Given the description of an element on the screen output the (x, y) to click on. 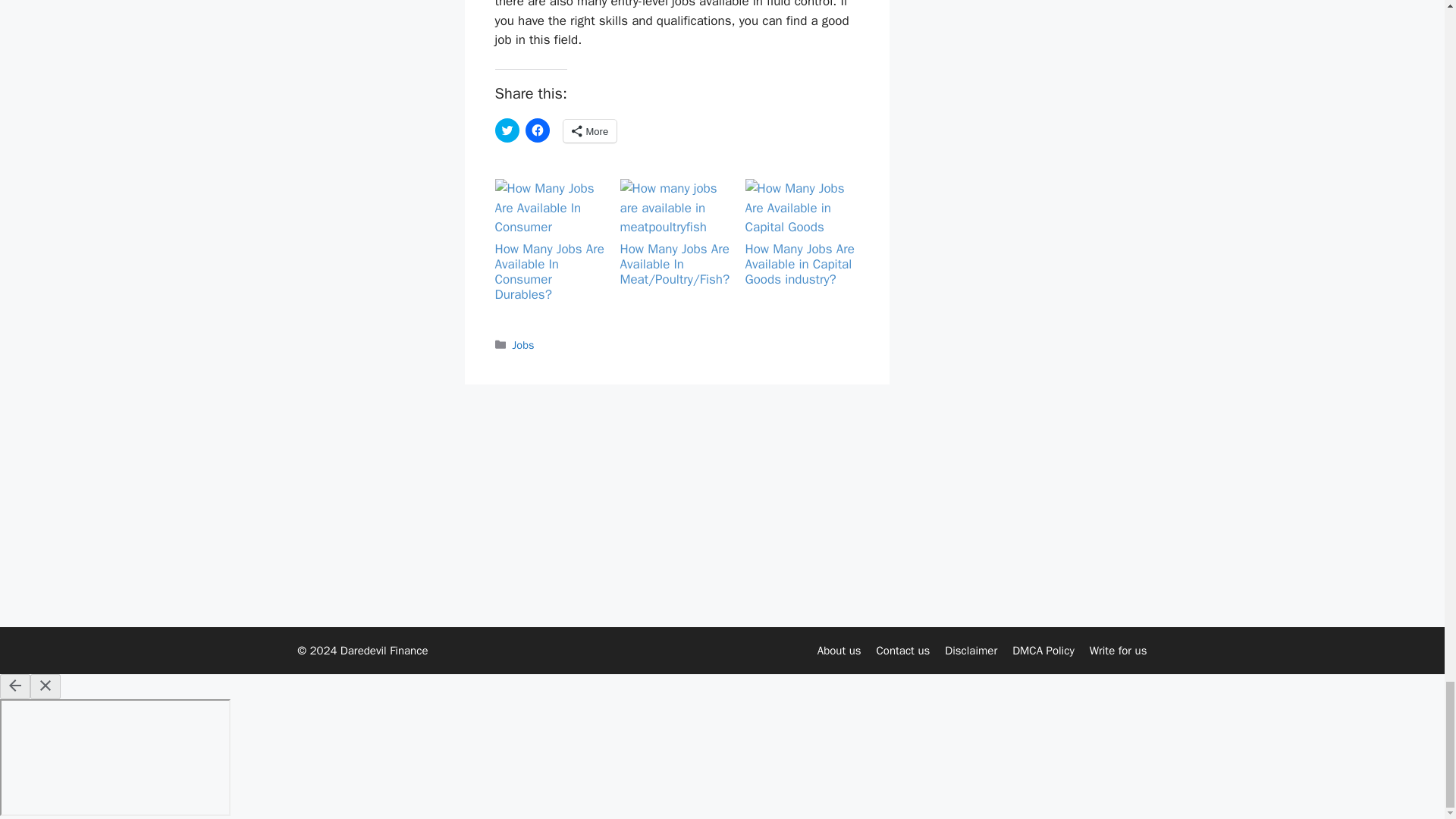
Click to share on Twitter (506, 129)
How Many Jobs Are Available In Consumer Durables? (549, 271)
Jobs (523, 345)
Click to share on Facebook (536, 129)
How Many Jobs Are Available In Consumer Durables? (549, 210)
How Many Jobs Are Available in Capital Goods industry? (798, 263)
More (588, 130)
